Given the description of an element on the screen output the (x, y) to click on. 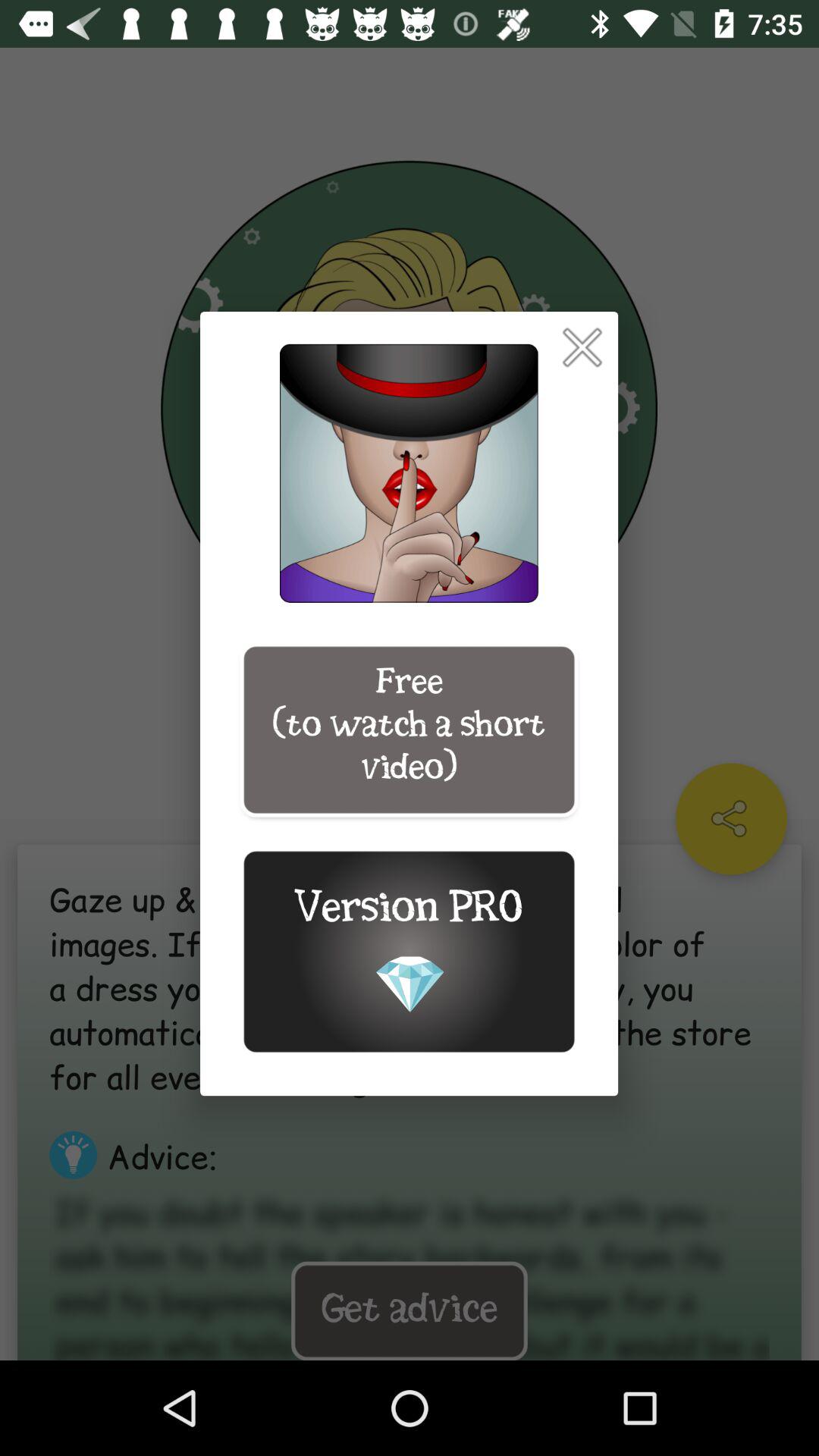
scroll to the version pro icon (409, 951)
